Given the description of an element on the screen output the (x, y) to click on. 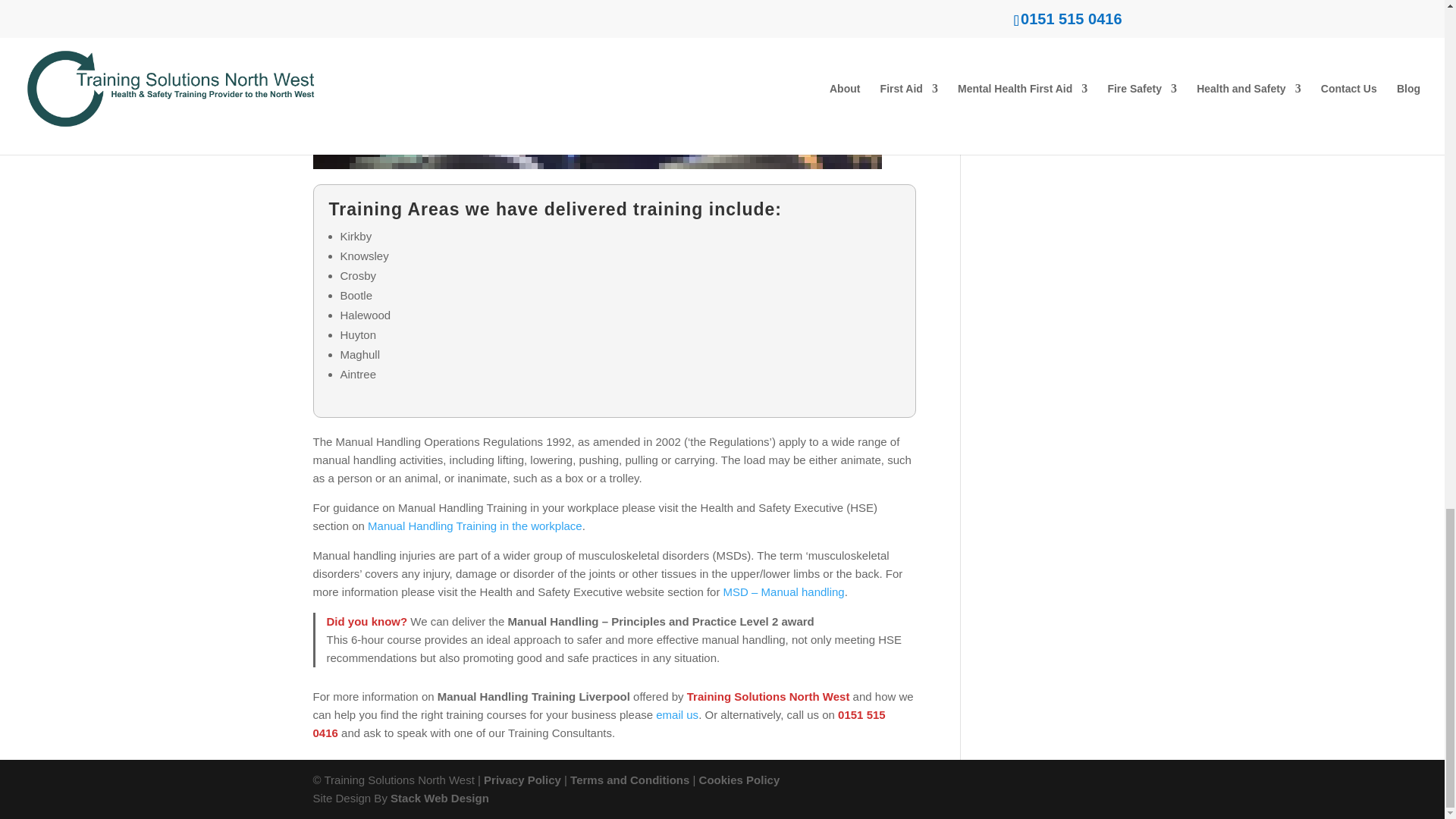
Terms and Conditions (629, 779)
Cookies Policy (739, 779)
Privacy Policy (521, 779)
